Given the description of an element on the screen output the (x, y) to click on. 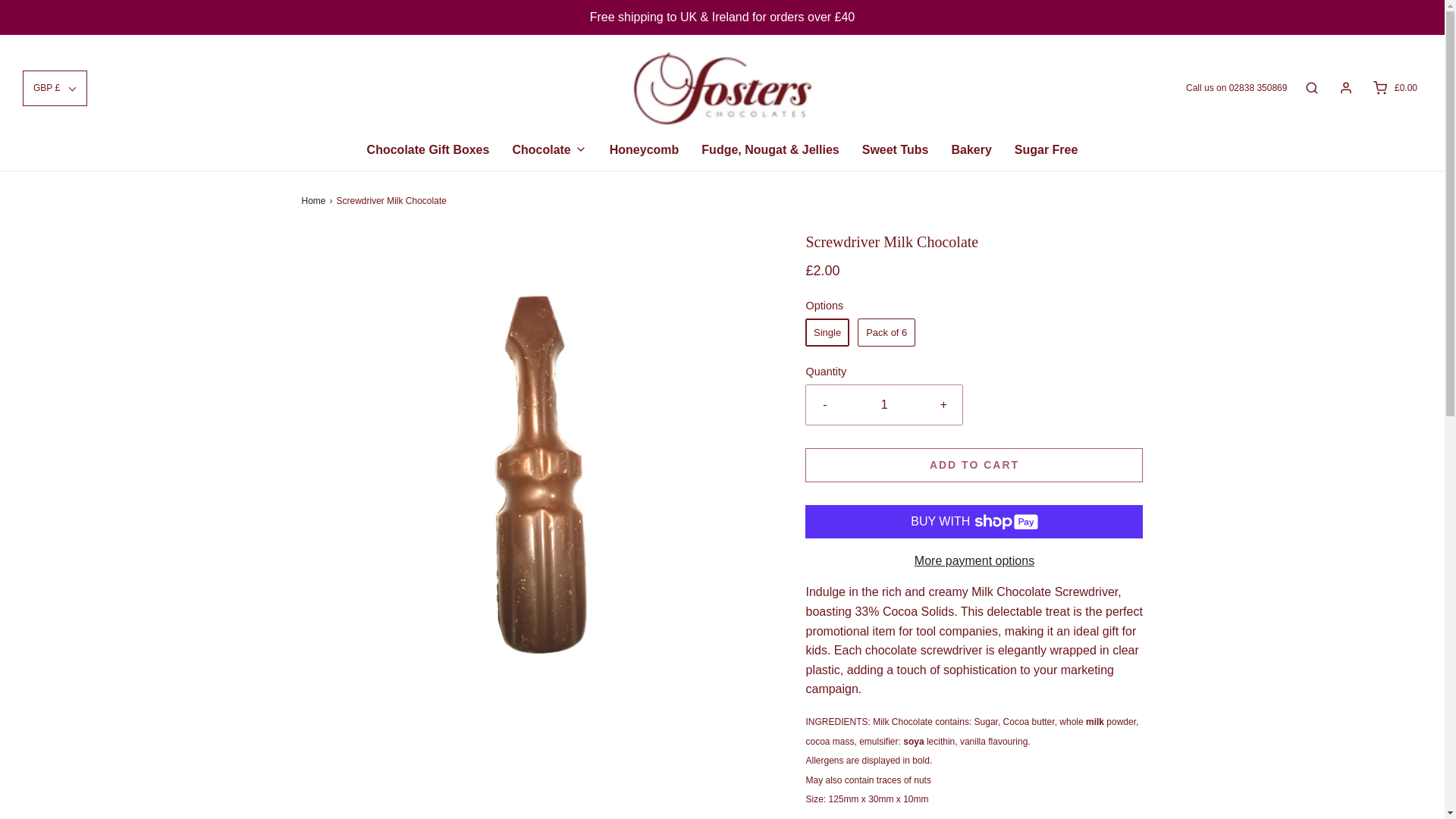
Honeycomb (644, 149)
- (824, 404)
Call us on 02838 350869 (1236, 87)
Cart (1394, 88)
Log in (1345, 88)
More payment options (973, 560)
Search (1311, 88)
Home (315, 201)
Sugar Free (1046, 149)
1 (884, 404)
